Given the description of an element on the screen output the (x, y) to click on. 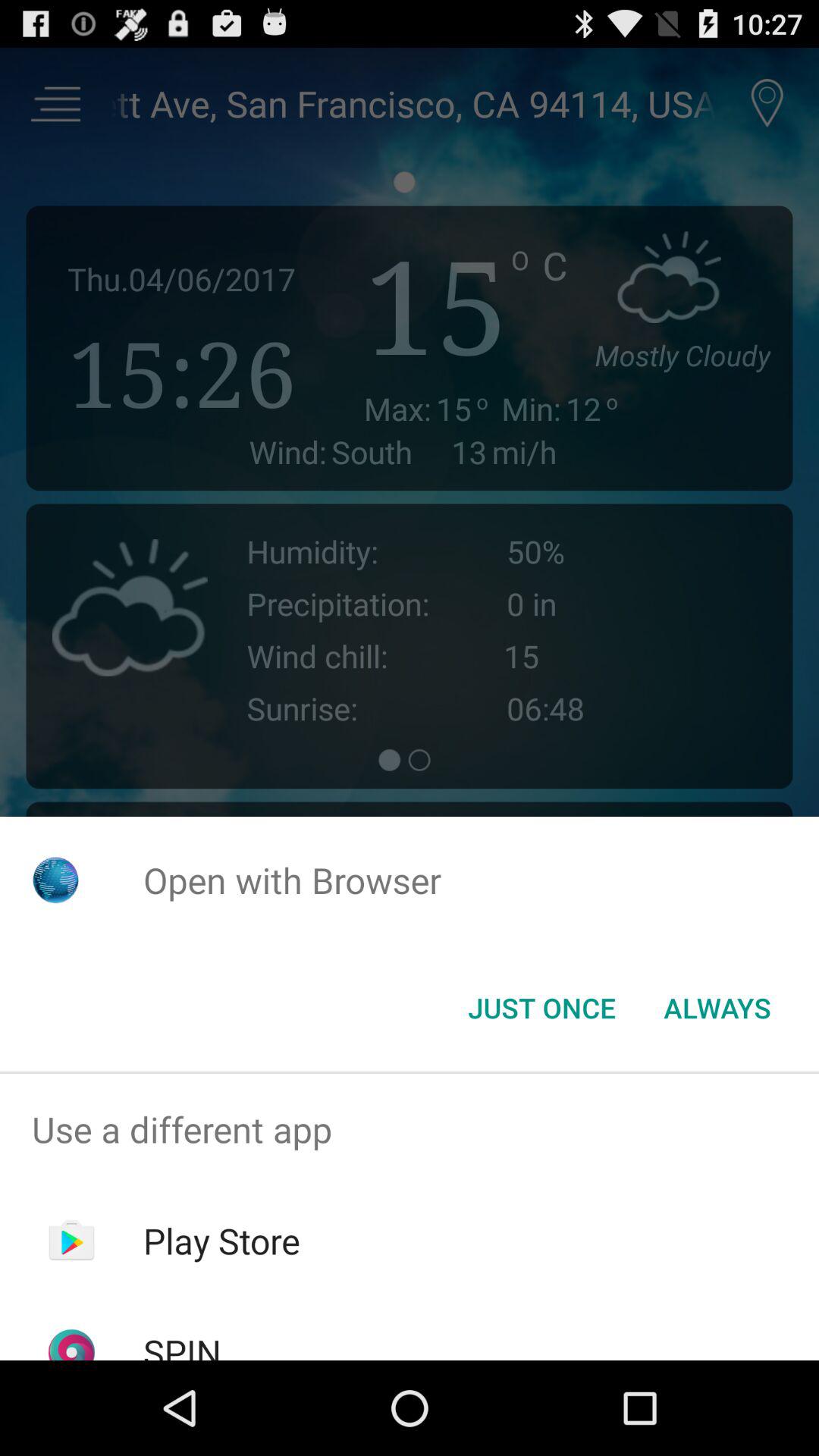
select the play store icon (221, 1240)
